Given the description of an element on the screen output the (x, y) to click on. 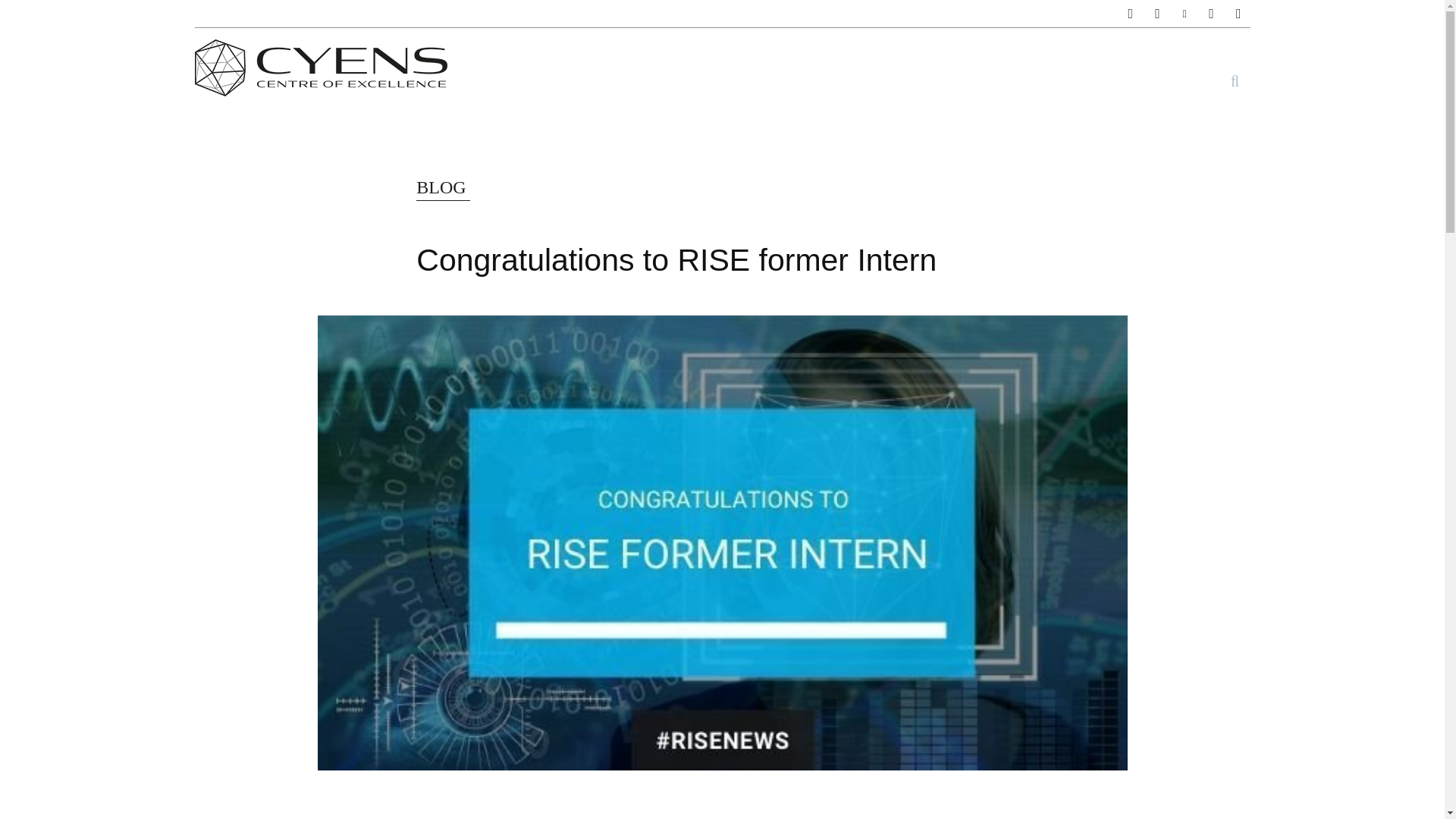
Twitter (1211, 13)
Facebook (1130, 13)
Instagram (1157, 13)
Youtube (1238, 13)
Linkedin (1184, 13)
